Given the description of an element on the screen output the (x, y) to click on. 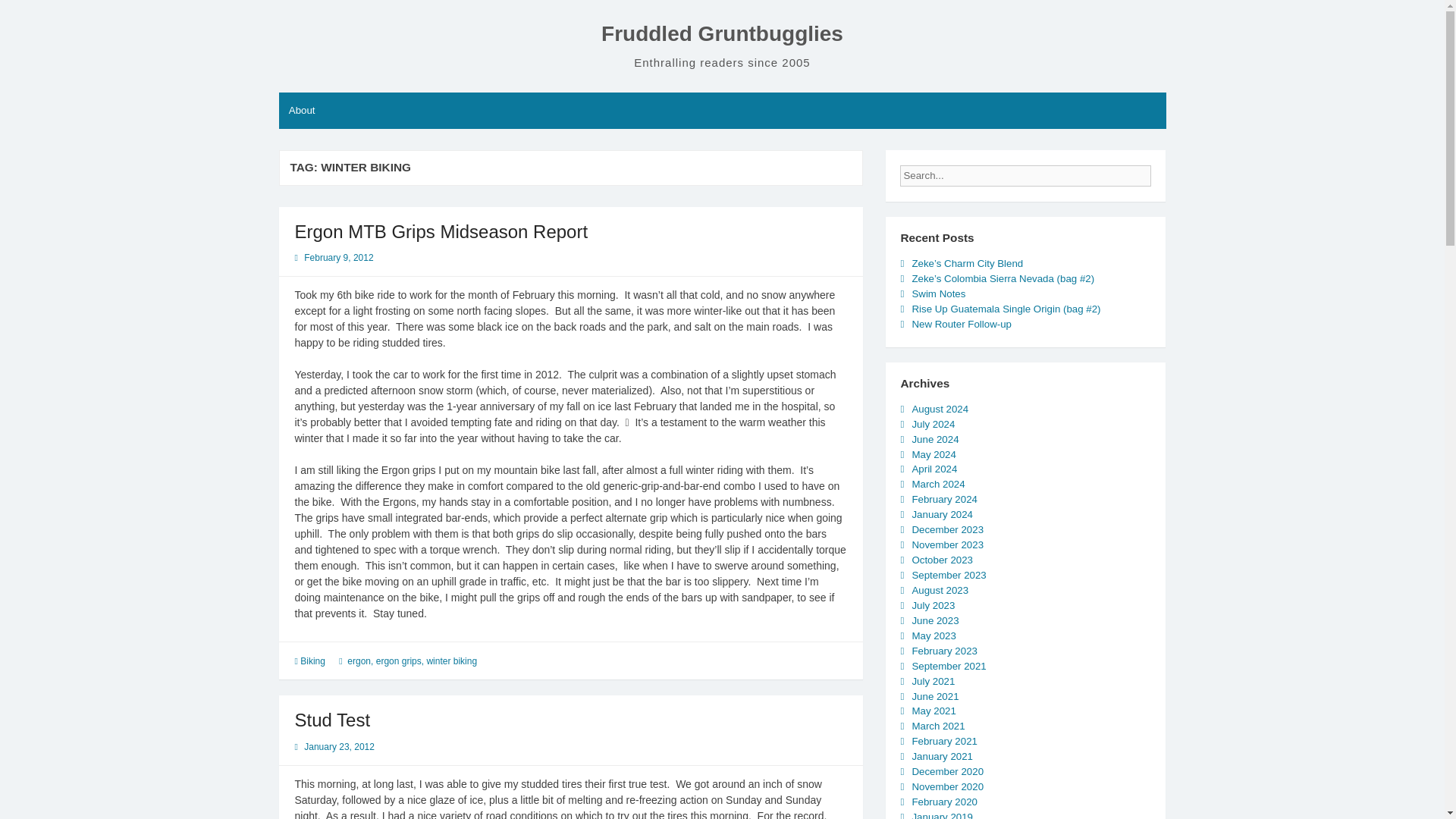
Fruddled Gruntbugglies (722, 33)
June 2024 (934, 439)
Swim Notes (938, 293)
Biking (311, 661)
Search (1163, 171)
July 2024 (933, 423)
April 2024 (933, 469)
About (301, 110)
Search (1163, 171)
May 2024 (933, 454)
